Given the description of an element on the screen output the (x, y) to click on. 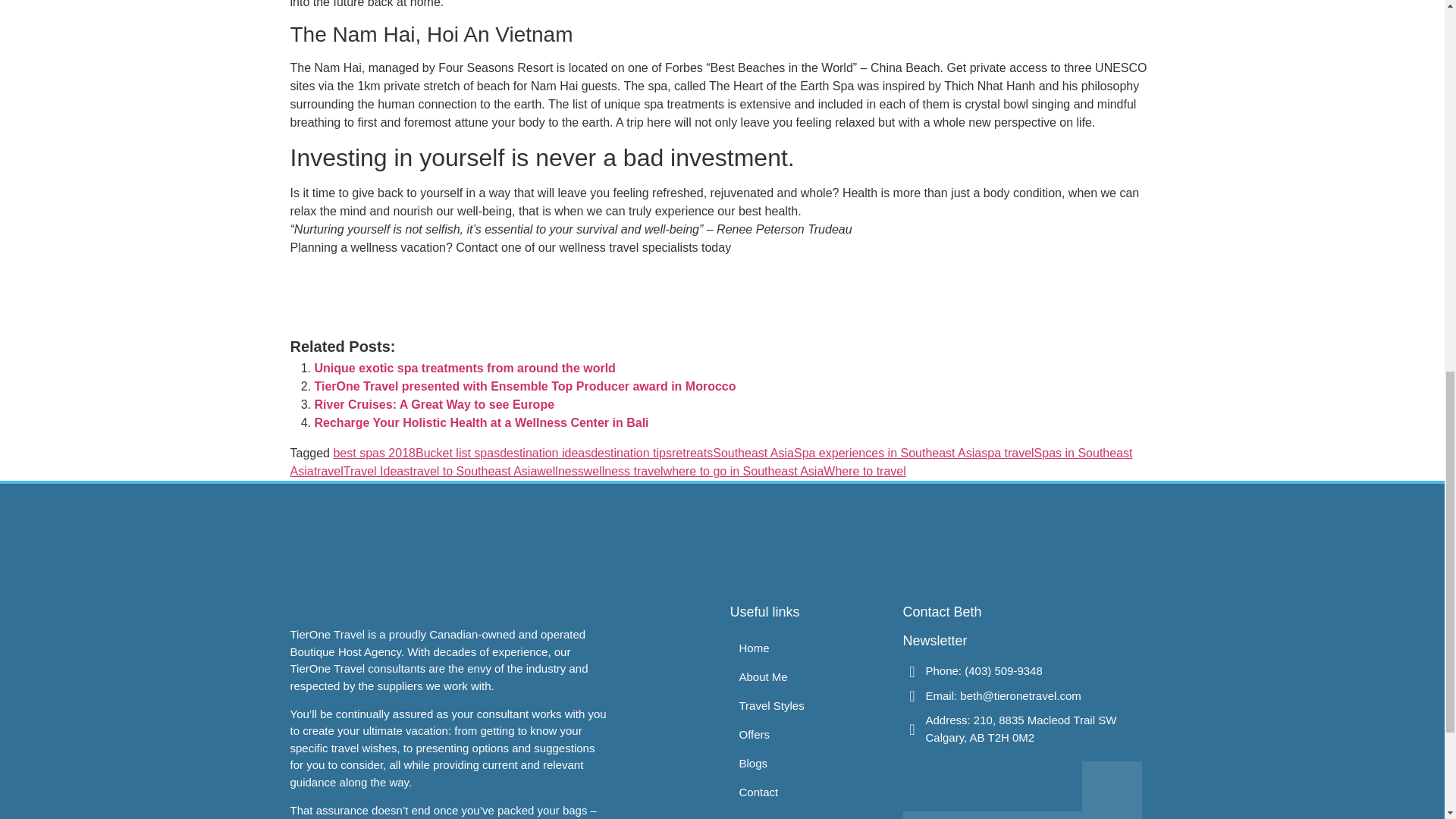
retreats (692, 452)
Bucket list spas (456, 452)
best spas 2018 (373, 452)
Unique exotic spa treatments from around the world (464, 367)
Unique exotic spa treatments from around the world (464, 367)
destination tips (631, 452)
River Cruises: A Great Way to see Europe (434, 404)
River Cruises: A Great Way to see Europe (434, 404)
Recharge Your Holistic Health at a Wellness Center in Bali (480, 422)
destination ideas (545, 452)
